Given the description of an element on the screen output the (x, y) to click on. 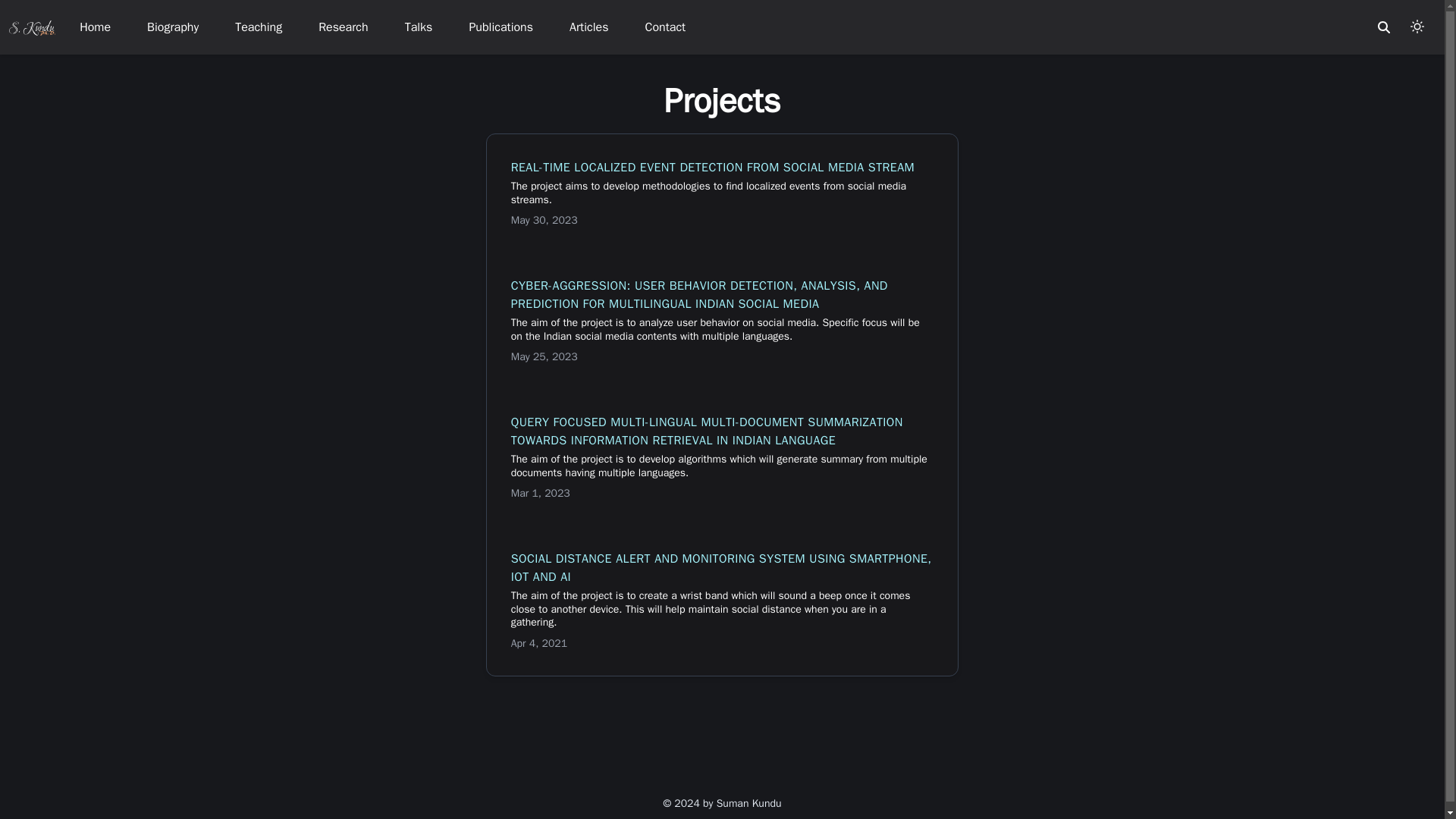
Teaching (258, 27)
Articles (588, 27)
Biography (173, 27)
Suman Kundu (31, 26)
Contact (665, 27)
appearance (1416, 26)
Talks (418, 27)
